Given the description of an element on the screen output the (x, y) to click on. 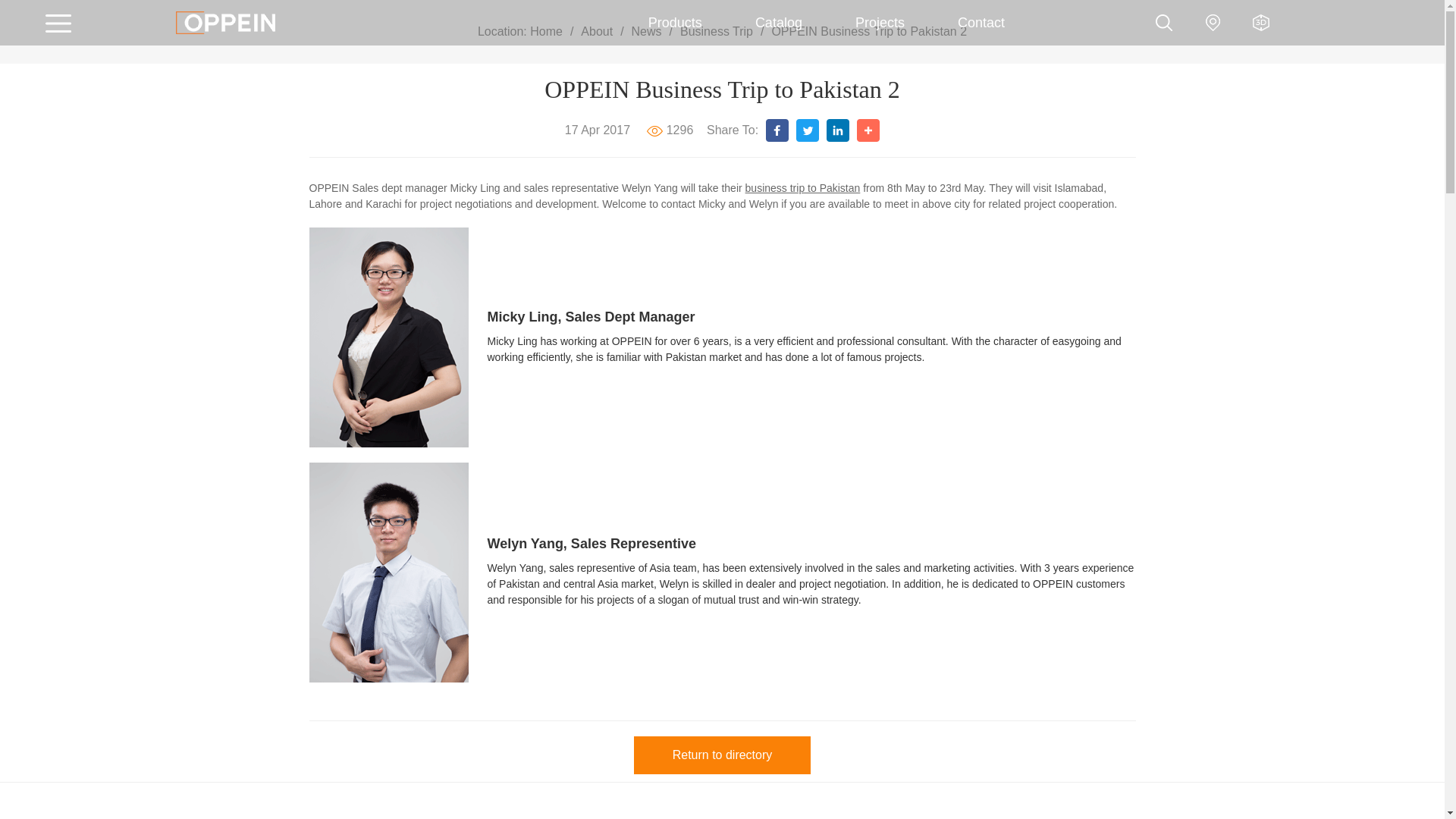
menu (65, 22)
Products (674, 22)
logo (225, 22)
Products (674, 22)
